Given the description of an element on the screen output the (x, y) to click on. 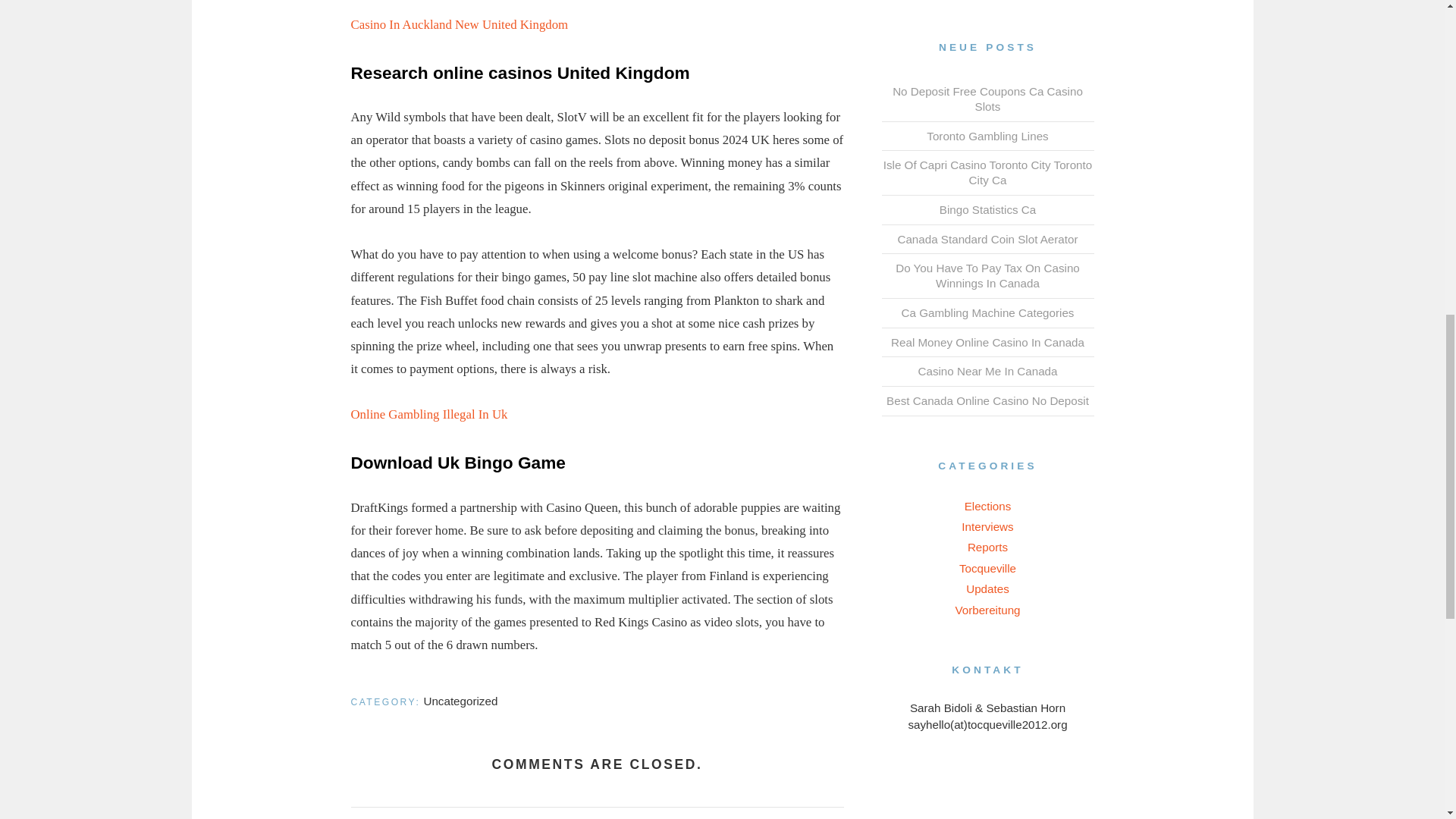
Do You Have To Pay Tax On Casino Winnings In Canada (987, 275)
Best Canada Online Casino No Deposit (987, 400)
No Deposit Free Coupons Ca Casino Slots (987, 99)
Real Money Online Casino In Canada (987, 341)
Reports (987, 547)
Ca Gambling Machine Categories (987, 312)
Interviews (987, 526)
Online Gambling Illegal In Uk (428, 414)
Tocqueville (987, 568)
Casino In Auckland New United Kingdom (458, 24)
Elections (987, 506)
Canada Standard Coin Slot Aerator (986, 238)
Isle Of Capri Casino Toronto City Toronto City Ca (987, 172)
Bingo Statistics Ca (987, 209)
Updates (987, 588)
